Given the description of an element on the screen output the (x, y) to click on. 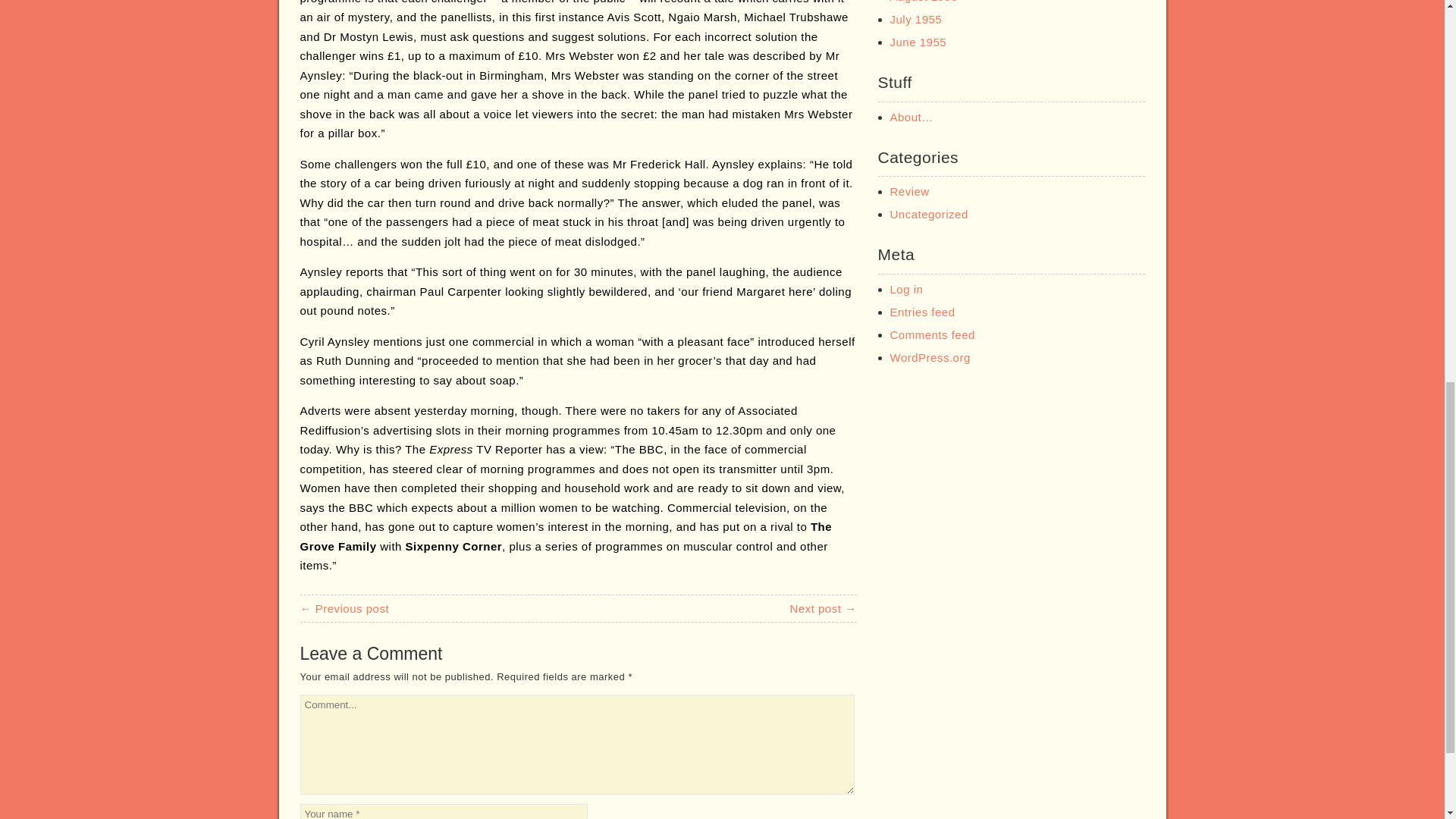
Entries feed (922, 311)
Comments feed (932, 334)
Review (909, 191)
Uncategorized (928, 214)
Jack Shit (822, 608)
June 1955 (918, 42)
August 1955 (923, 1)
July 1955 (915, 19)
WordPress.org (930, 357)
Log in (906, 288)
